Given the description of an element on the screen output the (x, y) to click on. 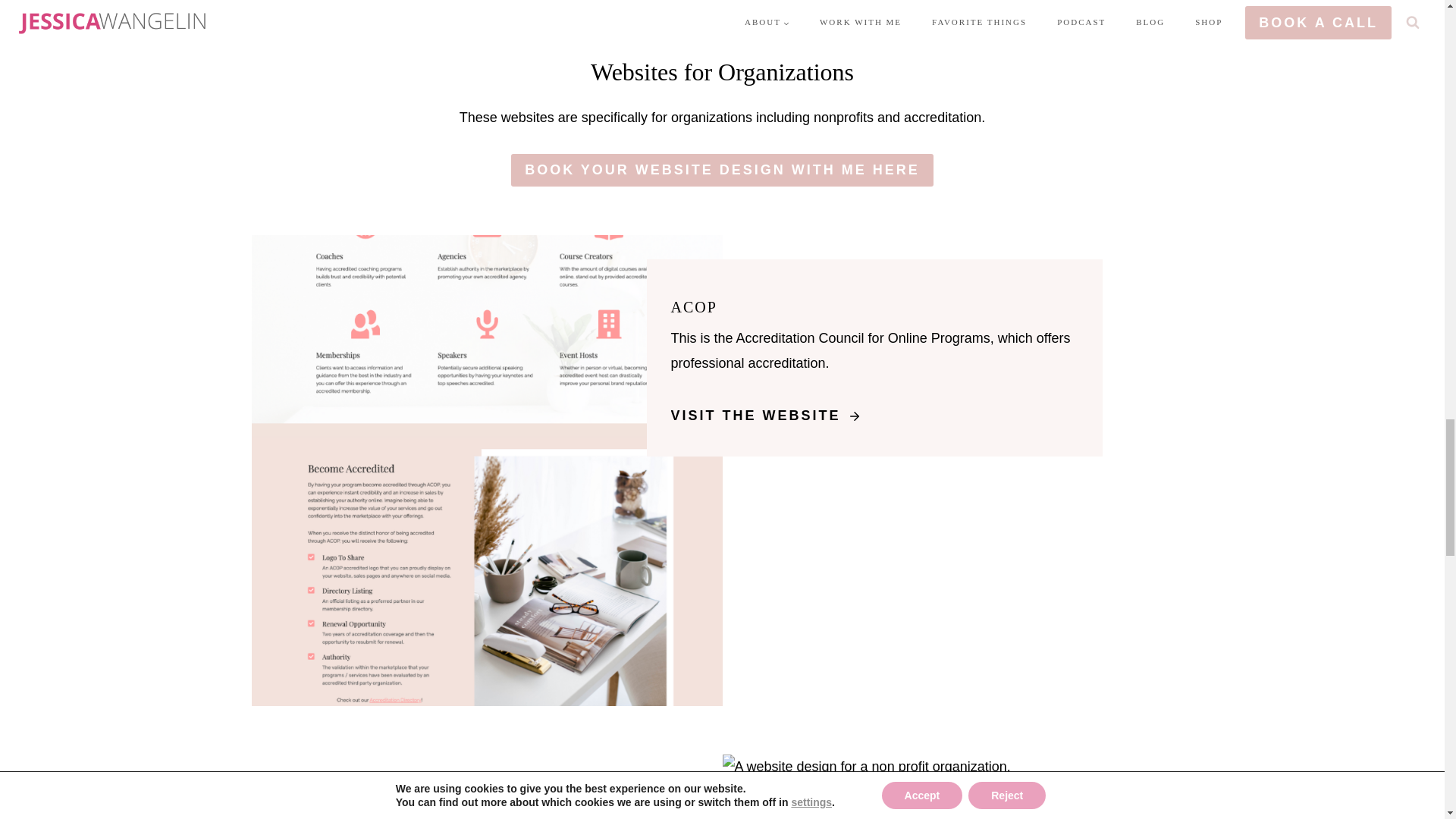
VISIT THE WEBSITE (772, 415)
BOOK YOUR WEBSITE DESIGN WITH ME HERE (722, 169)
